Given the description of an element on the screen output the (x, y) to click on. 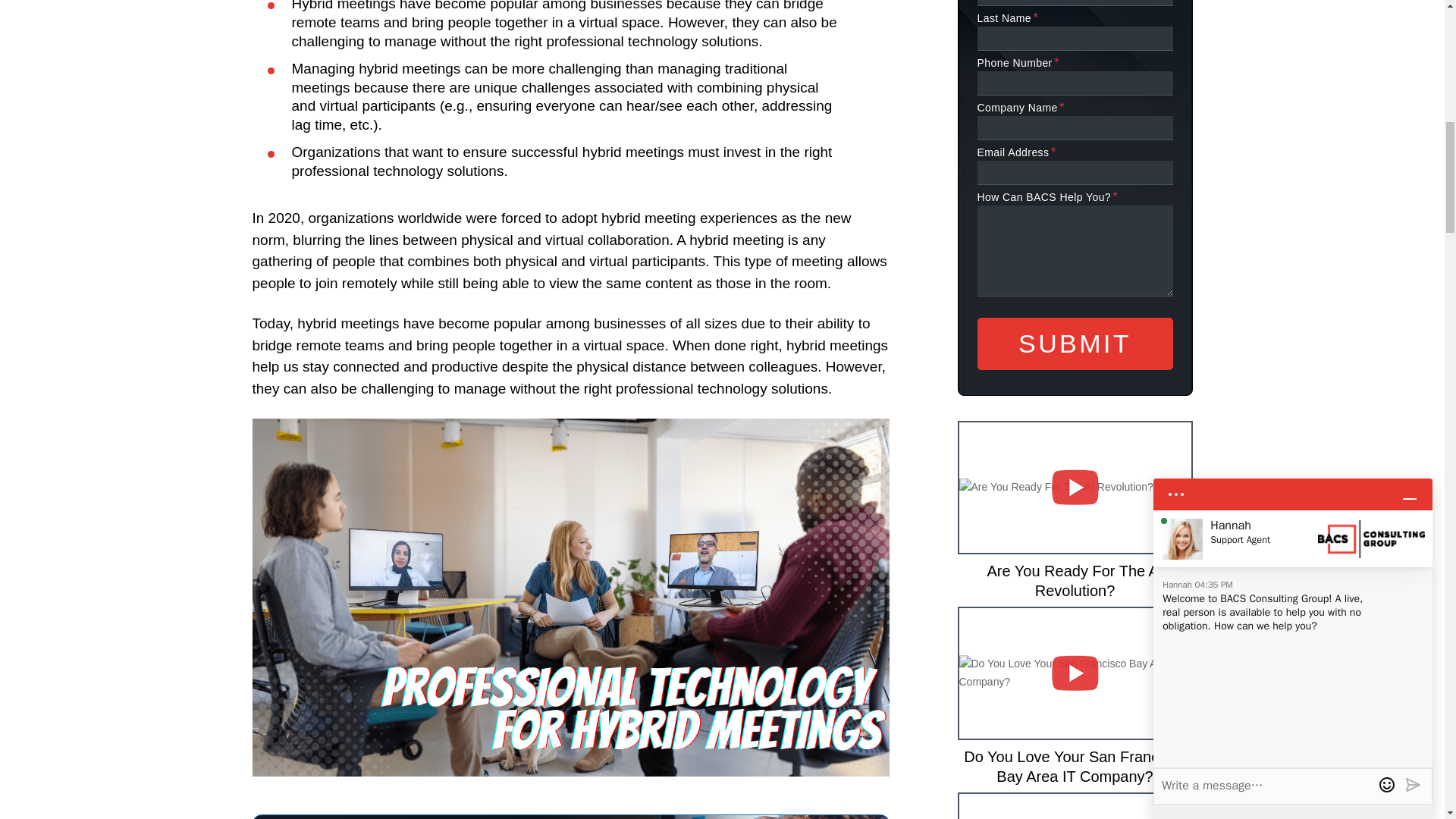
Are You Ready For The AI Revolution? (1074, 510)
Do You Love Your San Francisco Bay Area IT Company? (1074, 696)
